Given the description of an element on the screen output the (x, y) to click on. 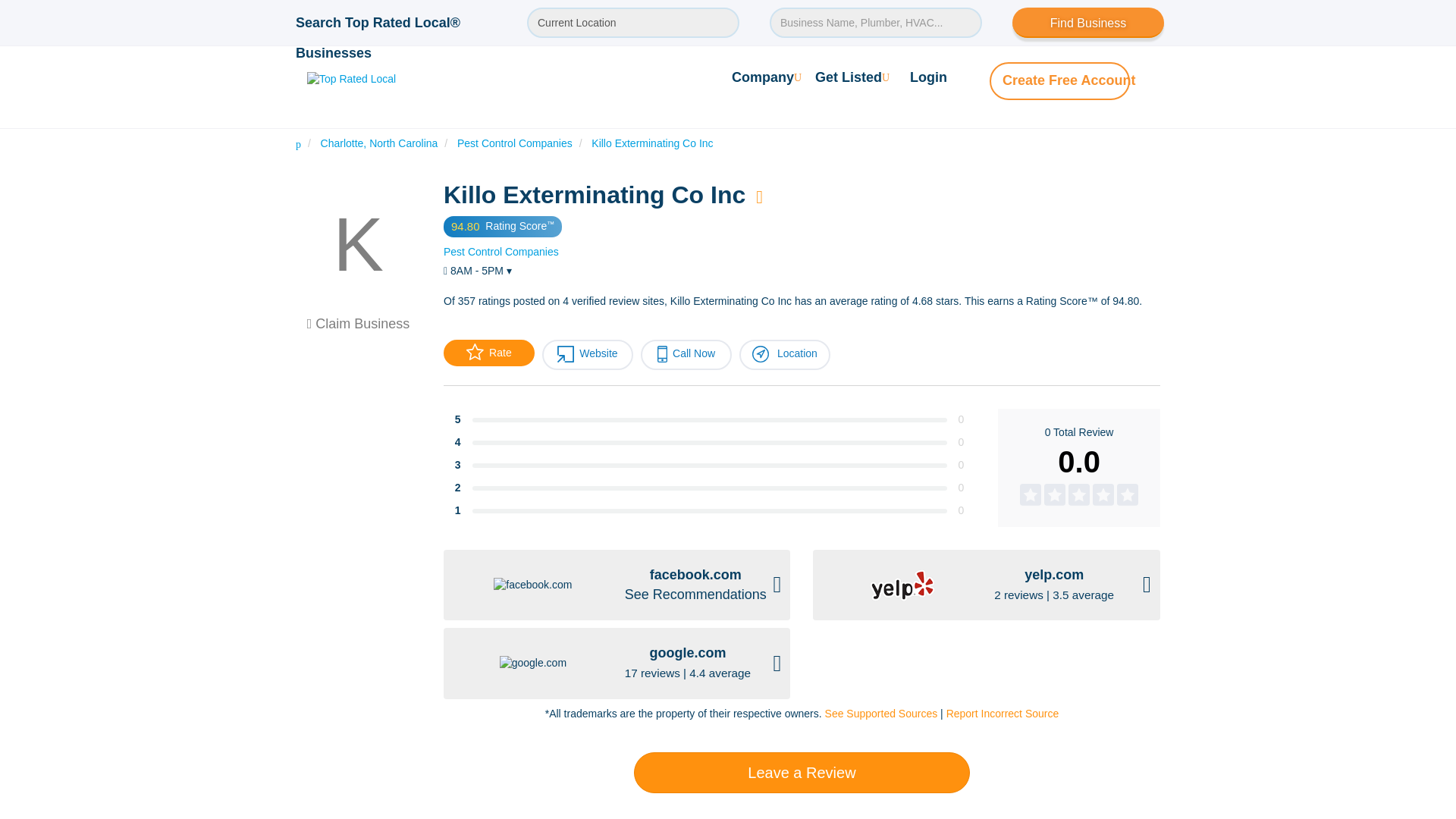
Claim Business (358, 323)
Pest Control Companies (514, 143)
Current Location (633, 22)
Company (767, 77)
Get Listed (852, 77)
Pest Control Companies (501, 251)
Current Location (633, 22)
Charlotte, North Carolina (379, 143)
Home (298, 143)
Create Free Account (1069, 79)
Login (928, 77)
Killo Exterminating Co Inc (652, 143)
Find Business (1087, 22)
Rate (489, 352)
